Given the description of an element on the screen output the (x, y) to click on. 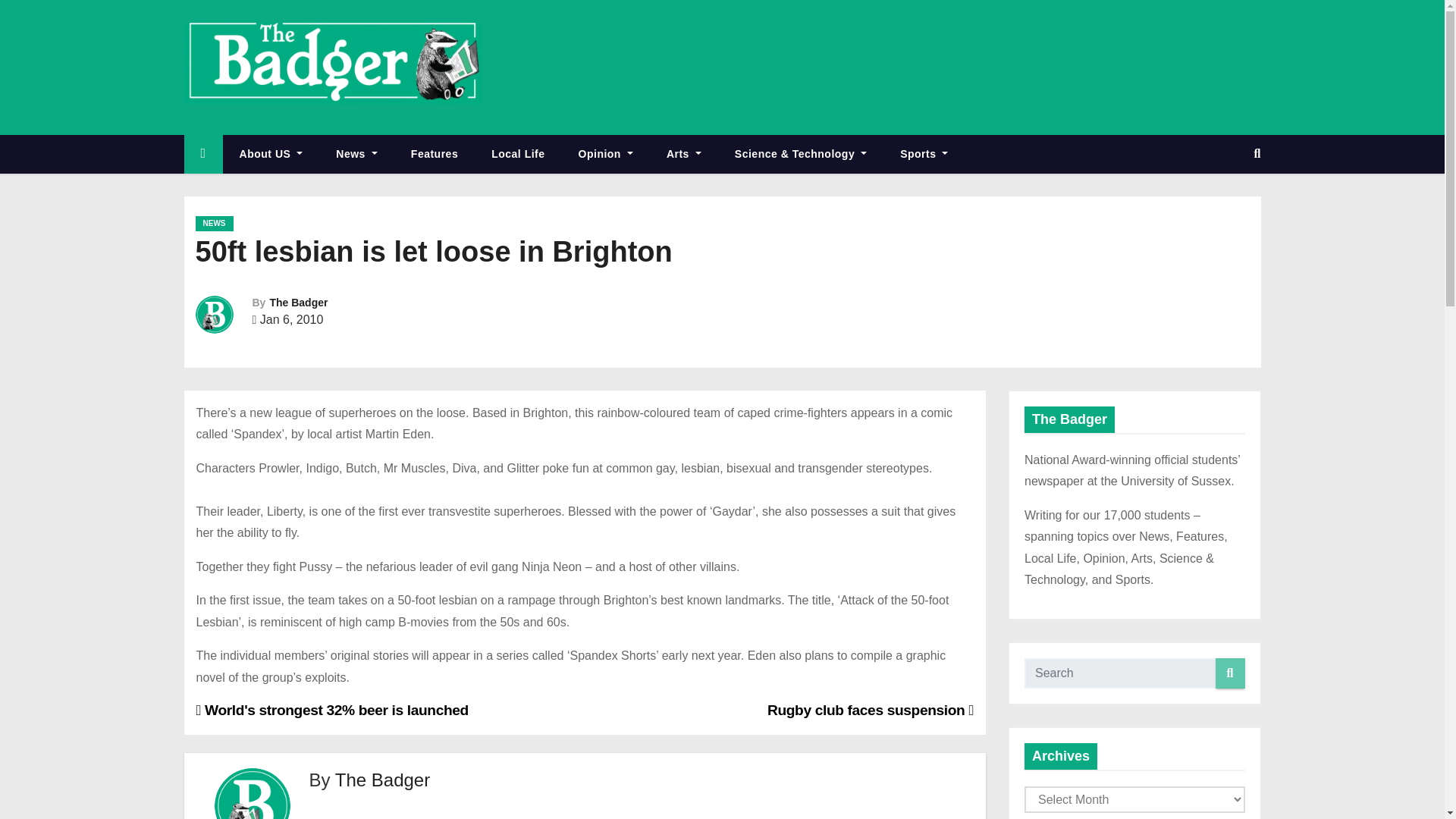
Opinion (605, 154)
Home (202, 154)
About US (271, 154)
Sports (923, 154)
News (356, 154)
Features (434, 154)
Local Life (517, 154)
The Badger (298, 302)
News (356, 154)
NEWS (213, 223)
Rugby club faces suspension (870, 709)
Local Life (517, 154)
Arts (683, 154)
About US (271, 154)
Features (434, 154)
